Given the description of an element on the screen output the (x, y) to click on. 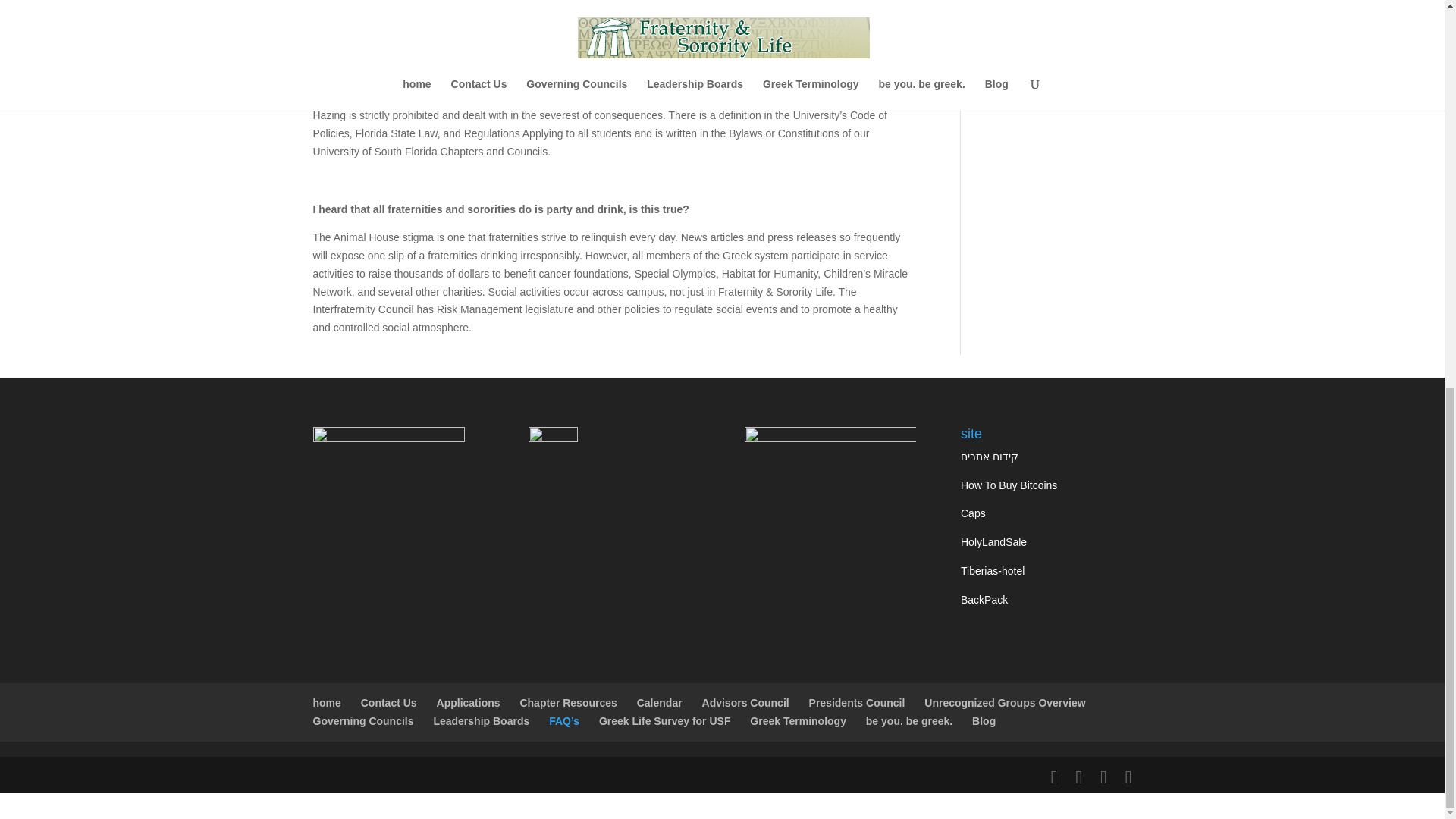
Chapter Resources (567, 702)
Contact Us (388, 702)
Greek Terminology (797, 720)
Unrecognized Groups Overview (1004, 702)
Greek Life Survey for USF (664, 720)
be you. be greek. (909, 720)
Advisors Council (745, 702)
Calendar (659, 702)
Tiberias-hotel (992, 571)
Blog (983, 720)
